Given the description of an element on the screen output the (x, y) to click on. 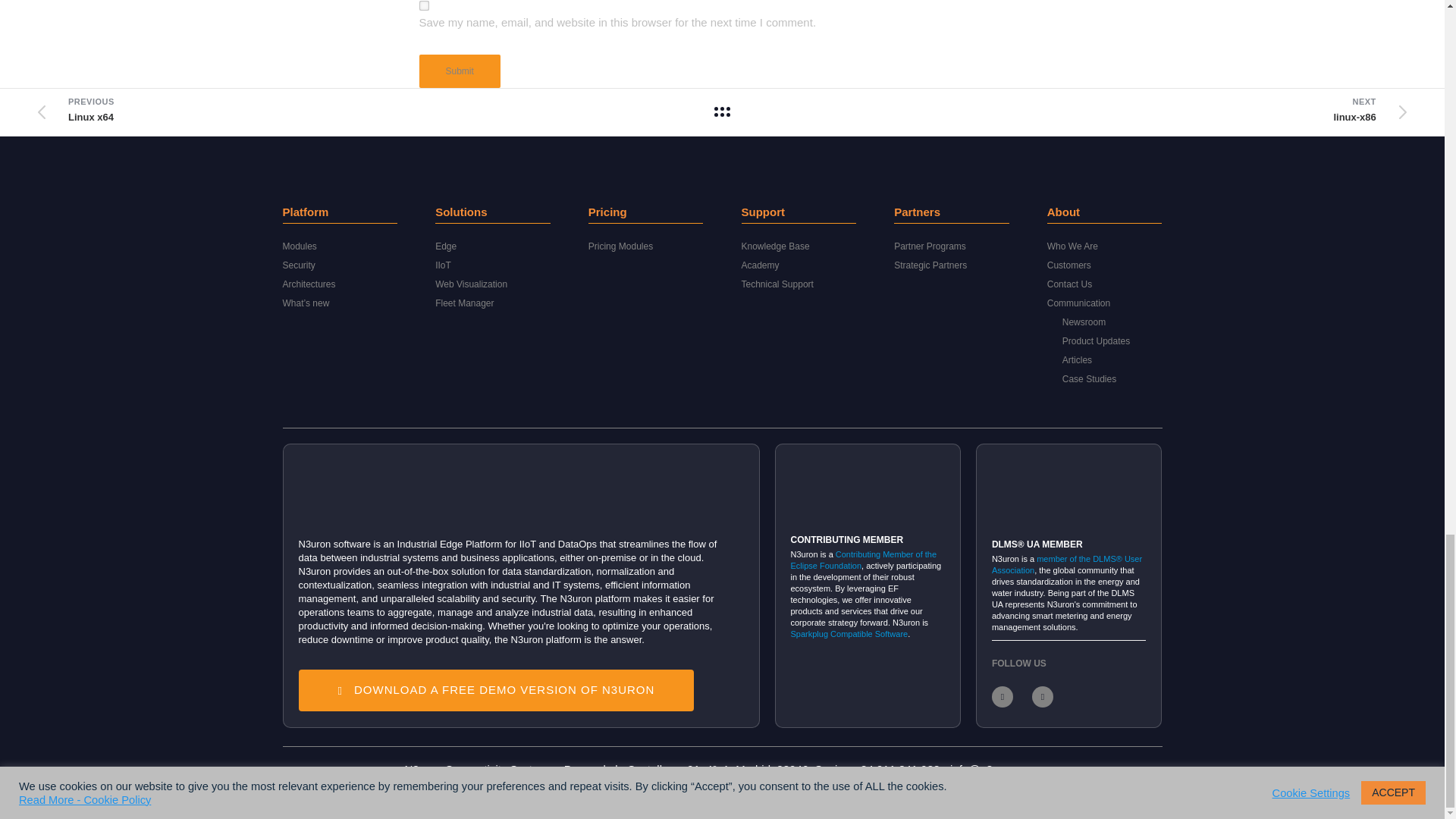
Submit (459, 70)
yes (423, 5)
